Given the description of an element on the screen output the (x, y) to click on. 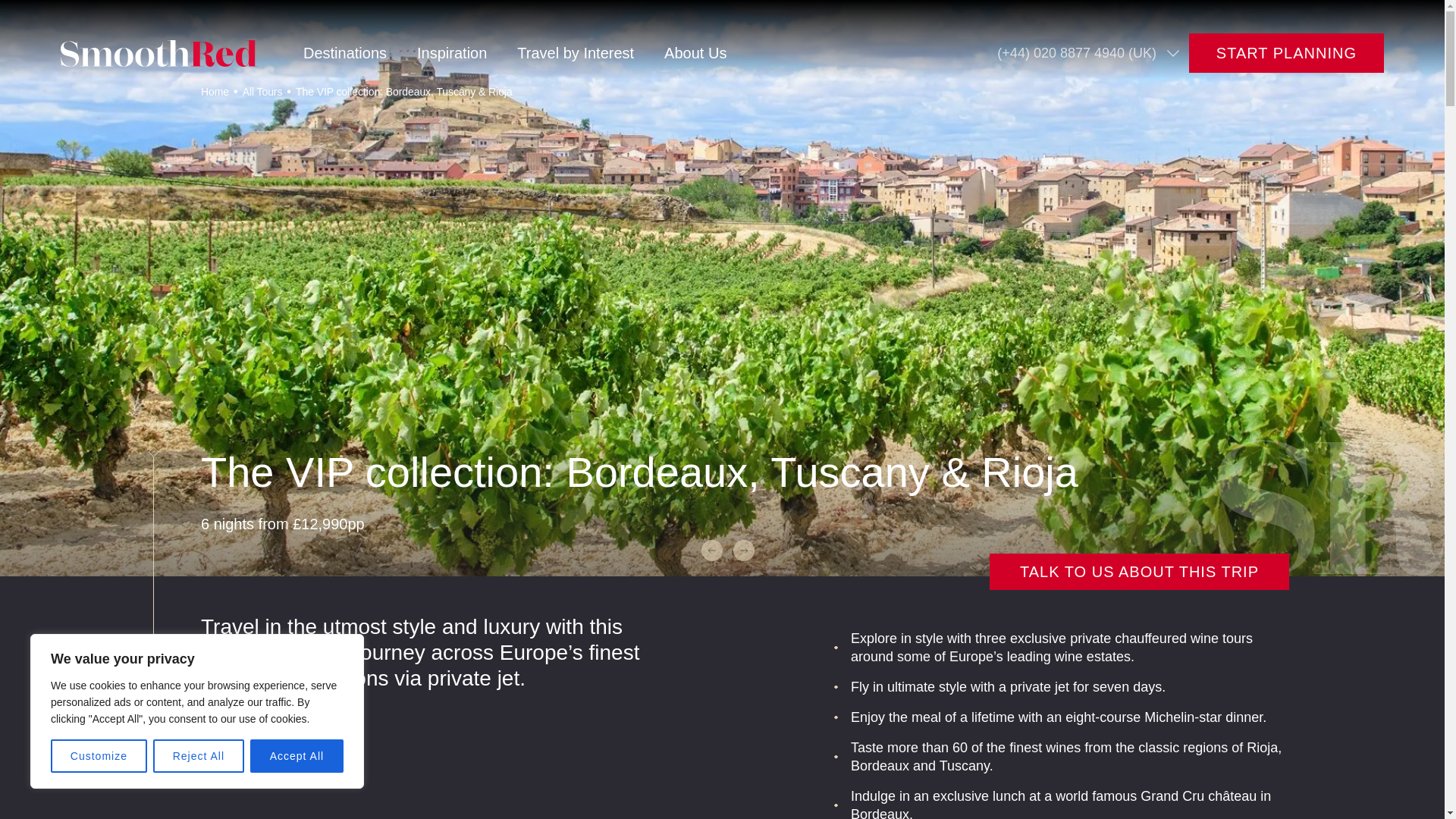
Customize (98, 756)
Destinations (359, 52)
Destinations (359, 52)
Smooth Red (159, 52)
Reject All (198, 756)
Customer reviews powered by Trustpilot (1217, 13)
Accept All (296, 756)
Smooth Red Homepage (159, 52)
